Given the description of an element on the screen output the (x, y) to click on. 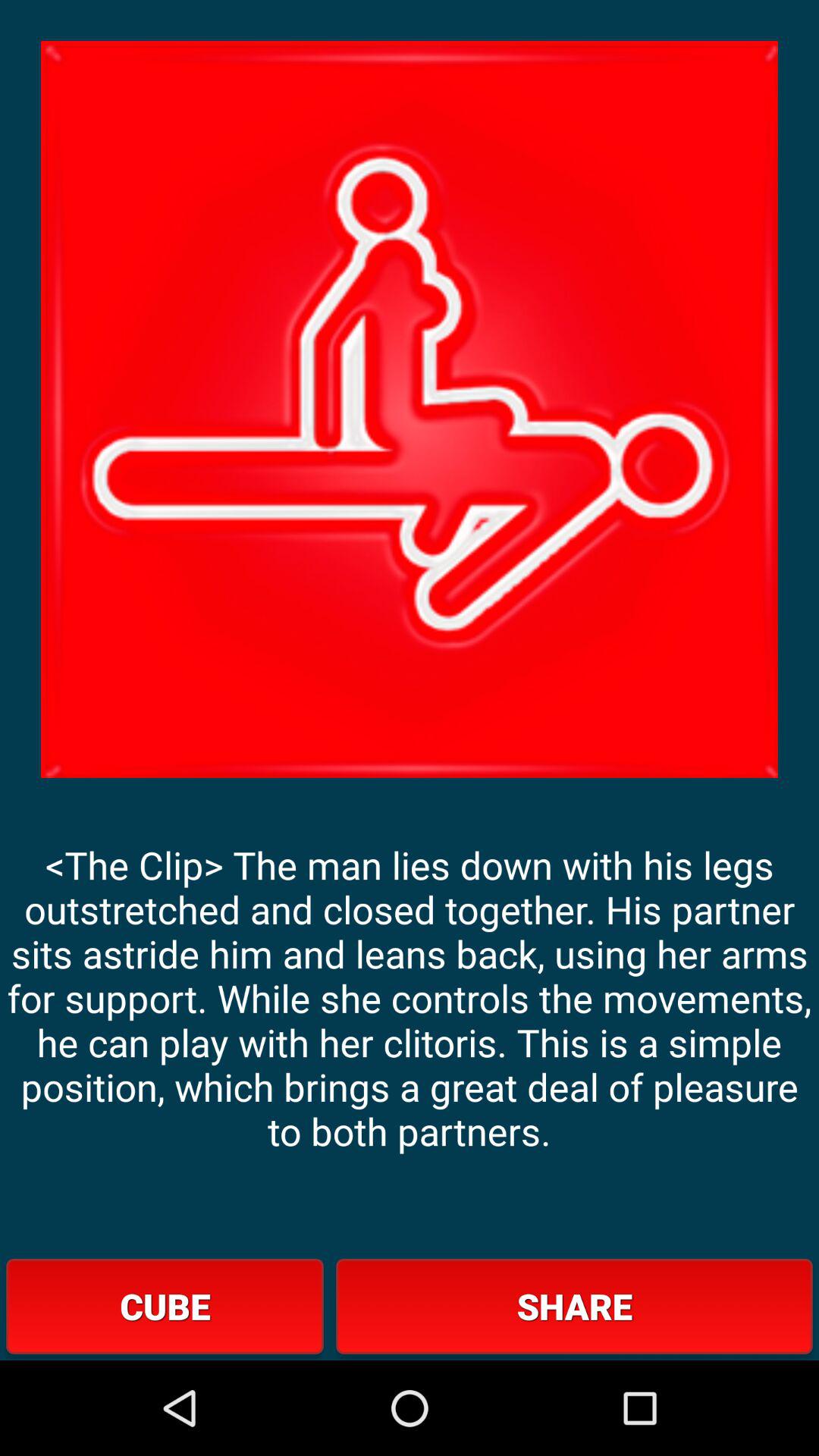
press the item next to cube item (574, 1306)
